Given the description of an element on the screen output the (x, y) to click on. 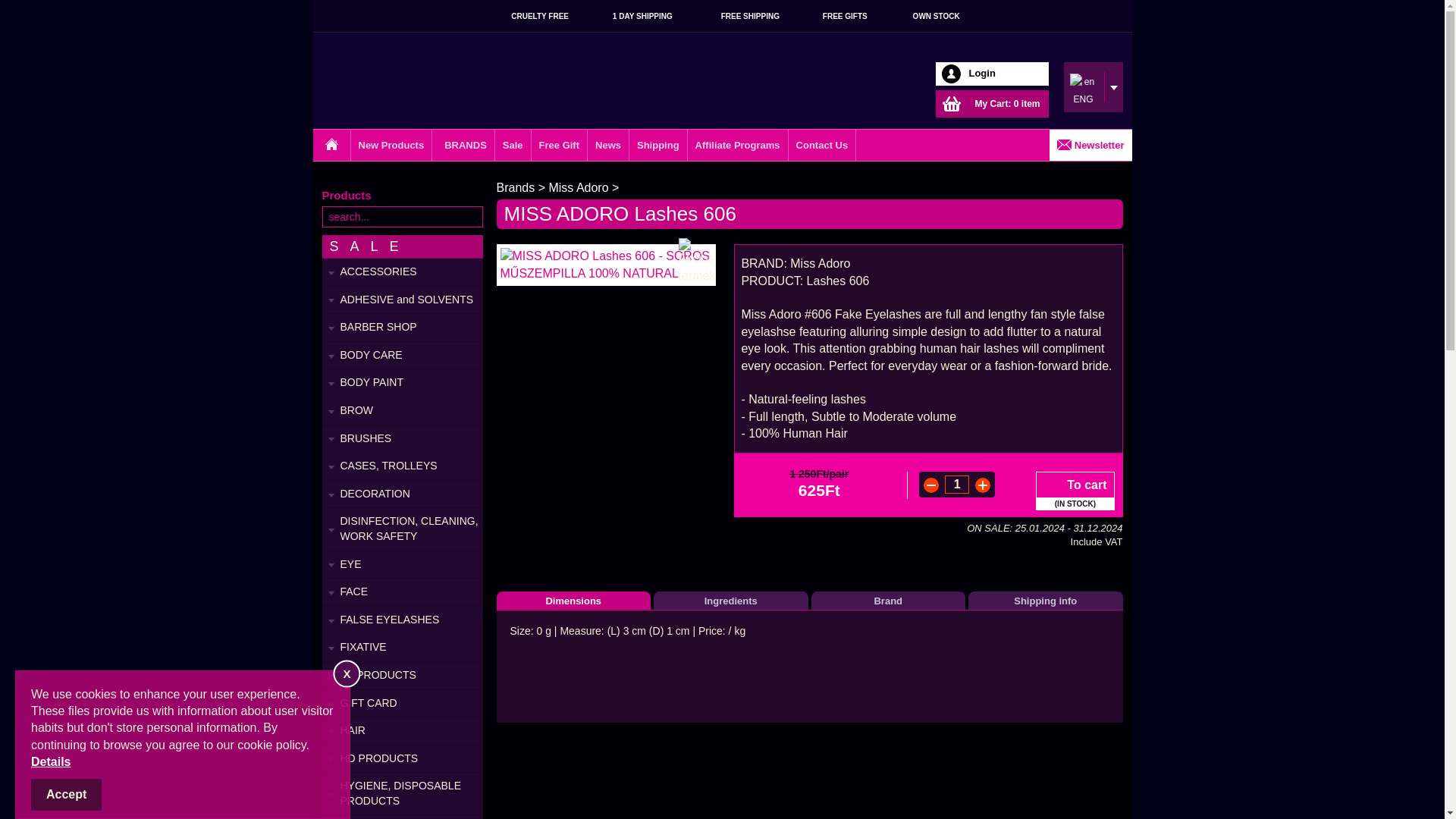
BRANDS (463, 144)
Details (49, 761)
FREE SHIPPING (738, 15)
search... (401, 216)
News (608, 144)
Affiliate Programs (738, 144)
Free Gift (559, 144)
Shipping (657, 144)
OWN STOCK (925, 15)
My Cart: 0 item (992, 103)
FREE GIFTS (835, 15)
CRUELTY FREE (525, 15)
Sale (513, 144)
Newsletter (1090, 144)
Login (992, 73)
